Given the description of an element on the screen output the (x, y) to click on. 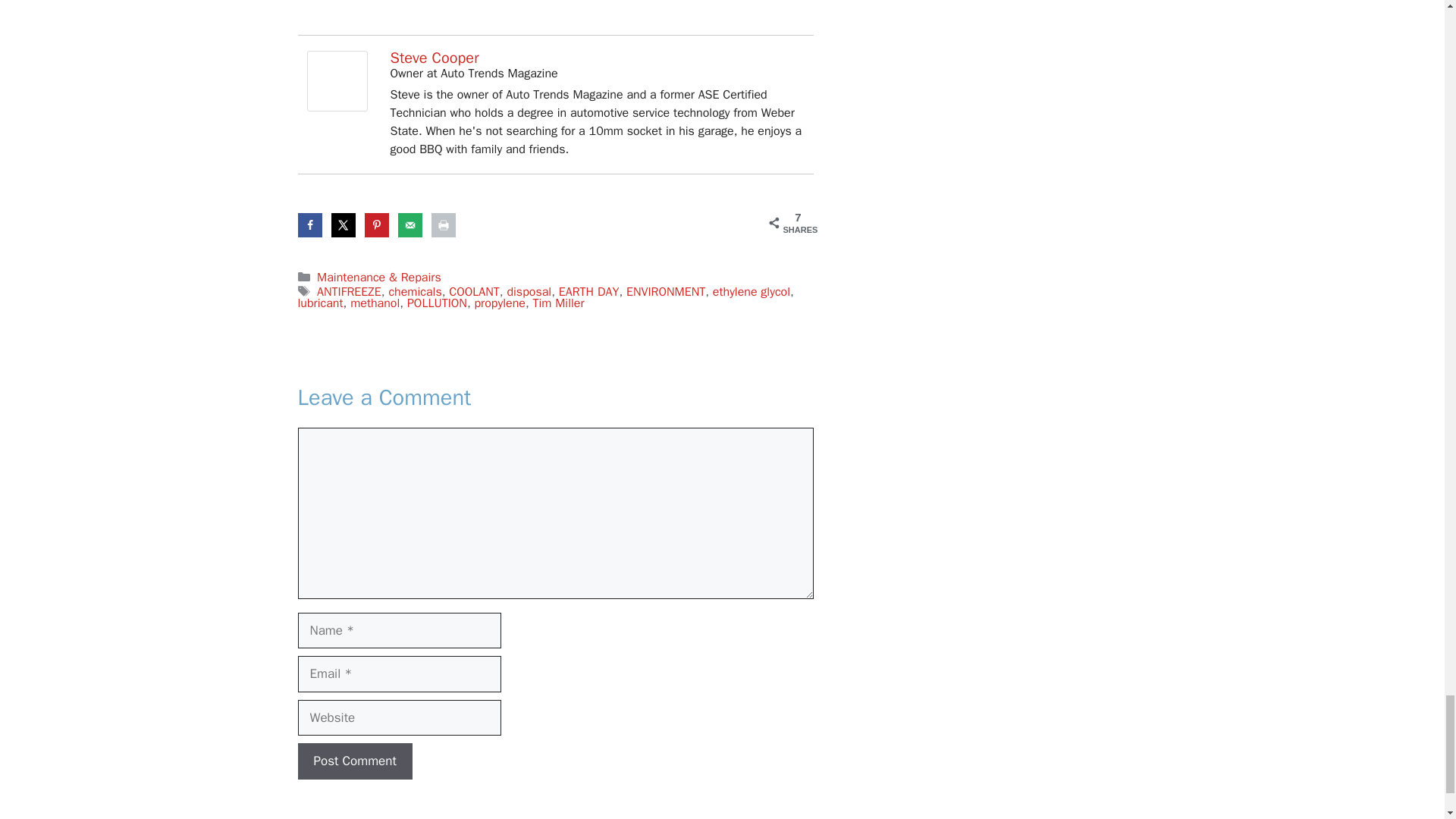
Post Comment (354, 760)
